Given the description of an element on the screen output the (x, y) to click on. 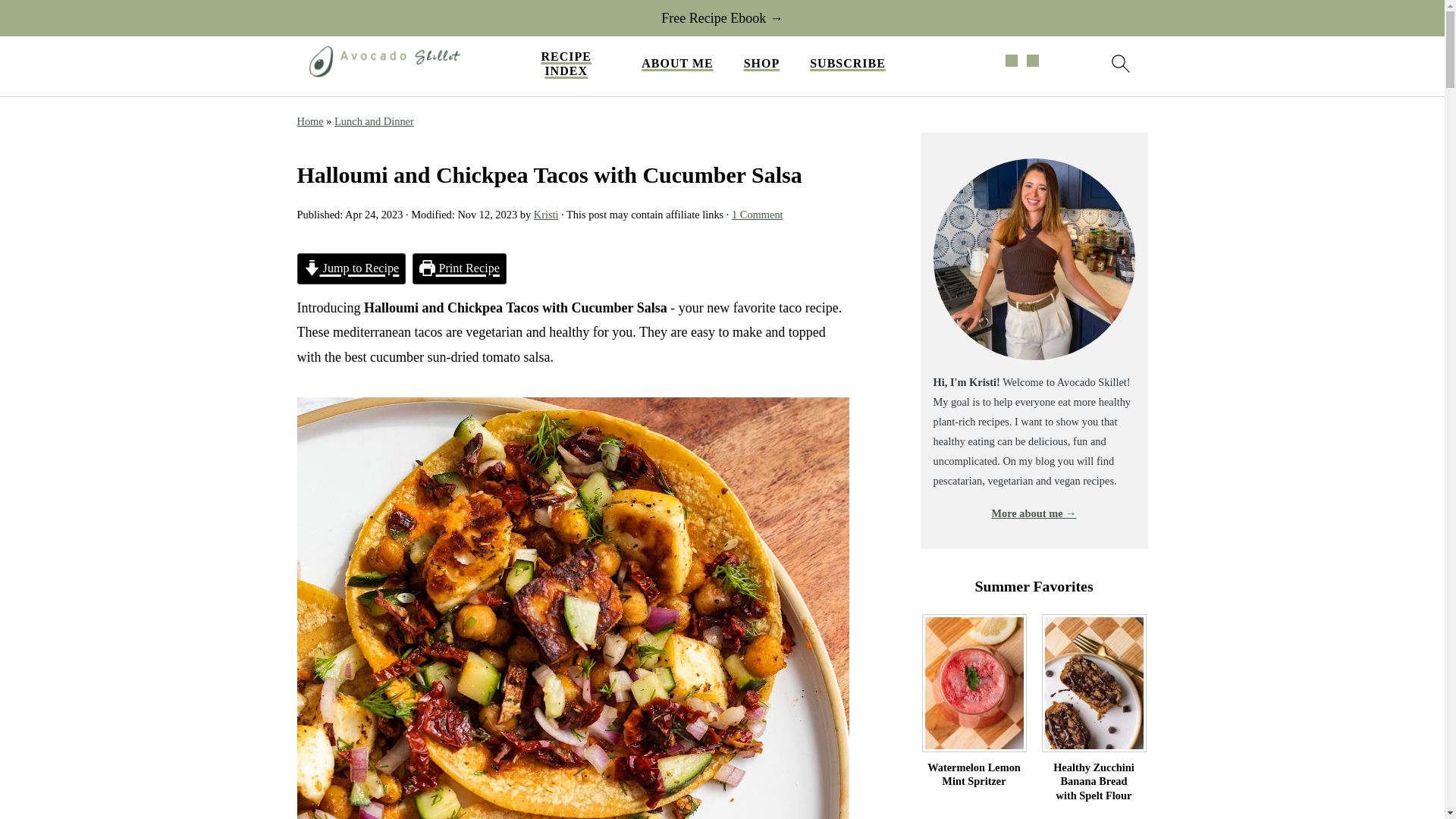
1 Comment (757, 214)
RECIPE INDEX (566, 63)
ABOUT ME (677, 63)
Home (310, 121)
Print Recipe (459, 268)
SUBSCRIBE (847, 63)
Lunch and Dinner (373, 121)
Jump to Recipe (351, 268)
Kristi (546, 214)
SHOP (762, 63)
